Given the description of an element on the screen output the (x, y) to click on. 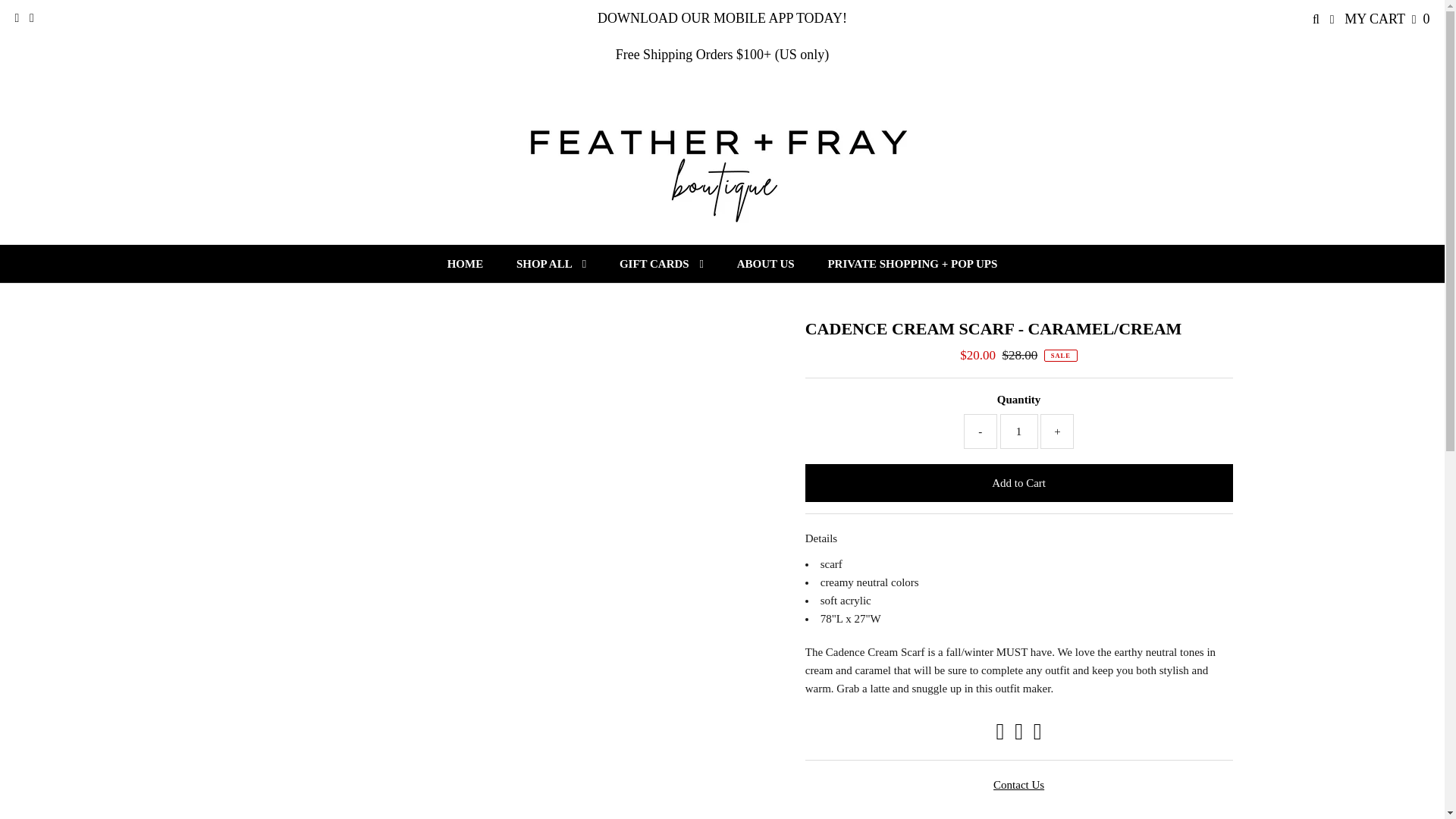
Add to Cart (1019, 483)
1 (1019, 431)
MY CART    0 (1386, 18)
